Given the description of an element on the screen output the (x, y) to click on. 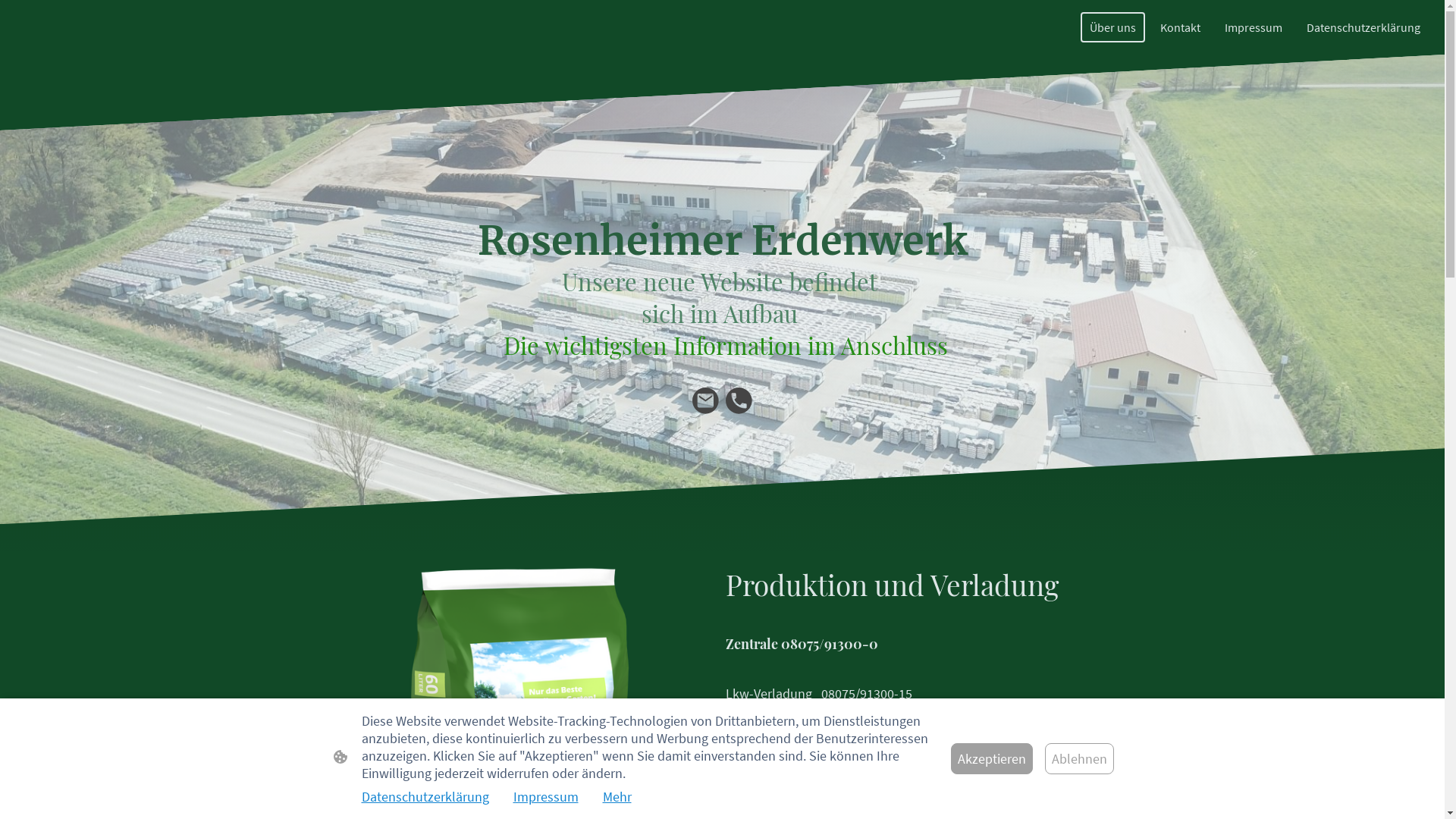
Impressum Element type: text (544, 796)
Mehr Element type: text (616, 796)
Kontakt Element type: text (1180, 26)
Akzeptieren Element type: text (991, 758)
Ablehnen Element type: text (1078, 758)
Impressum Element type: text (1253, 26)
